Given the description of an element on the screen output the (x, y) to click on. 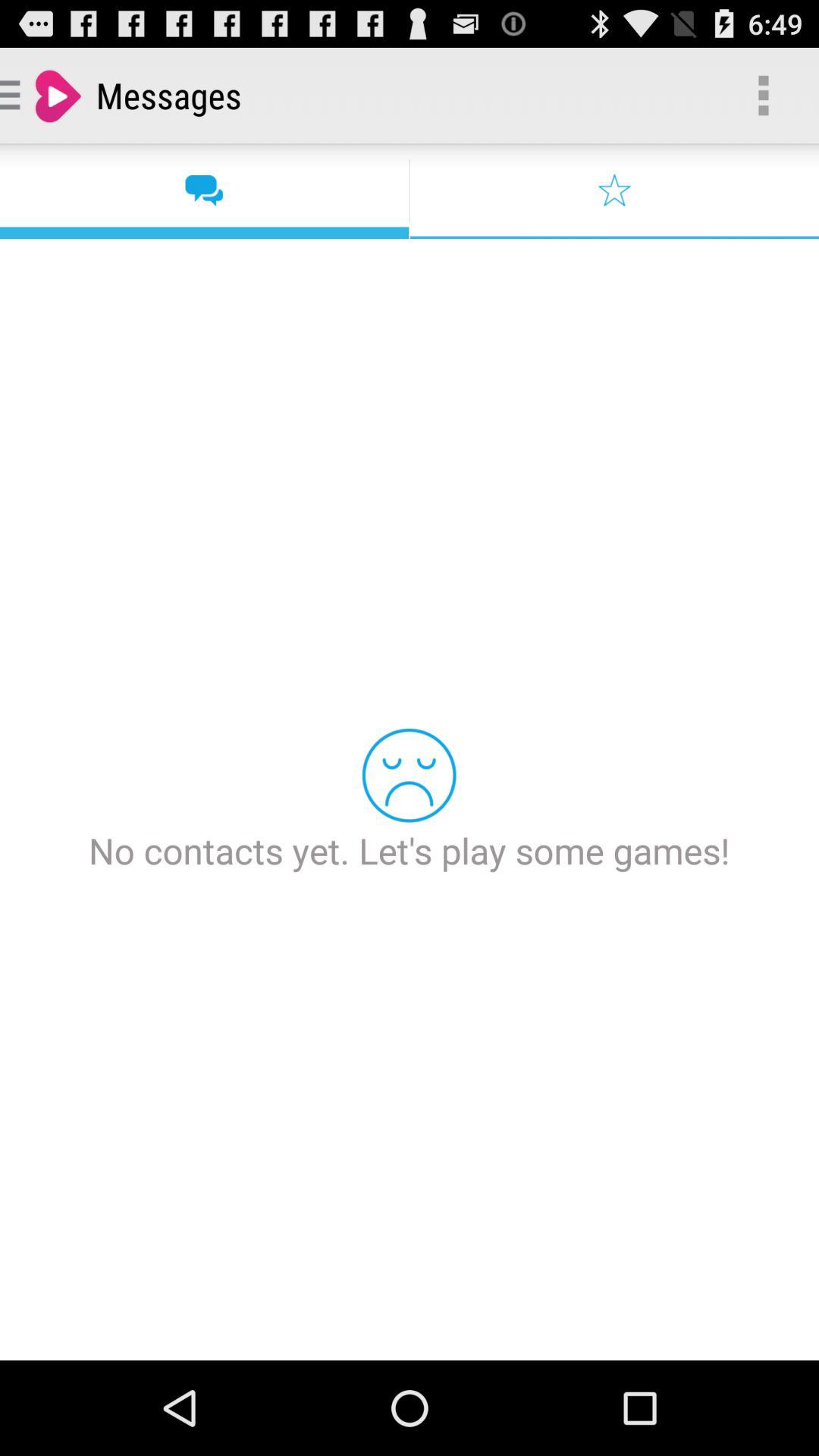
tap item to the right of messages item (763, 95)
